Given the description of an element on the screen output the (x, y) to click on. 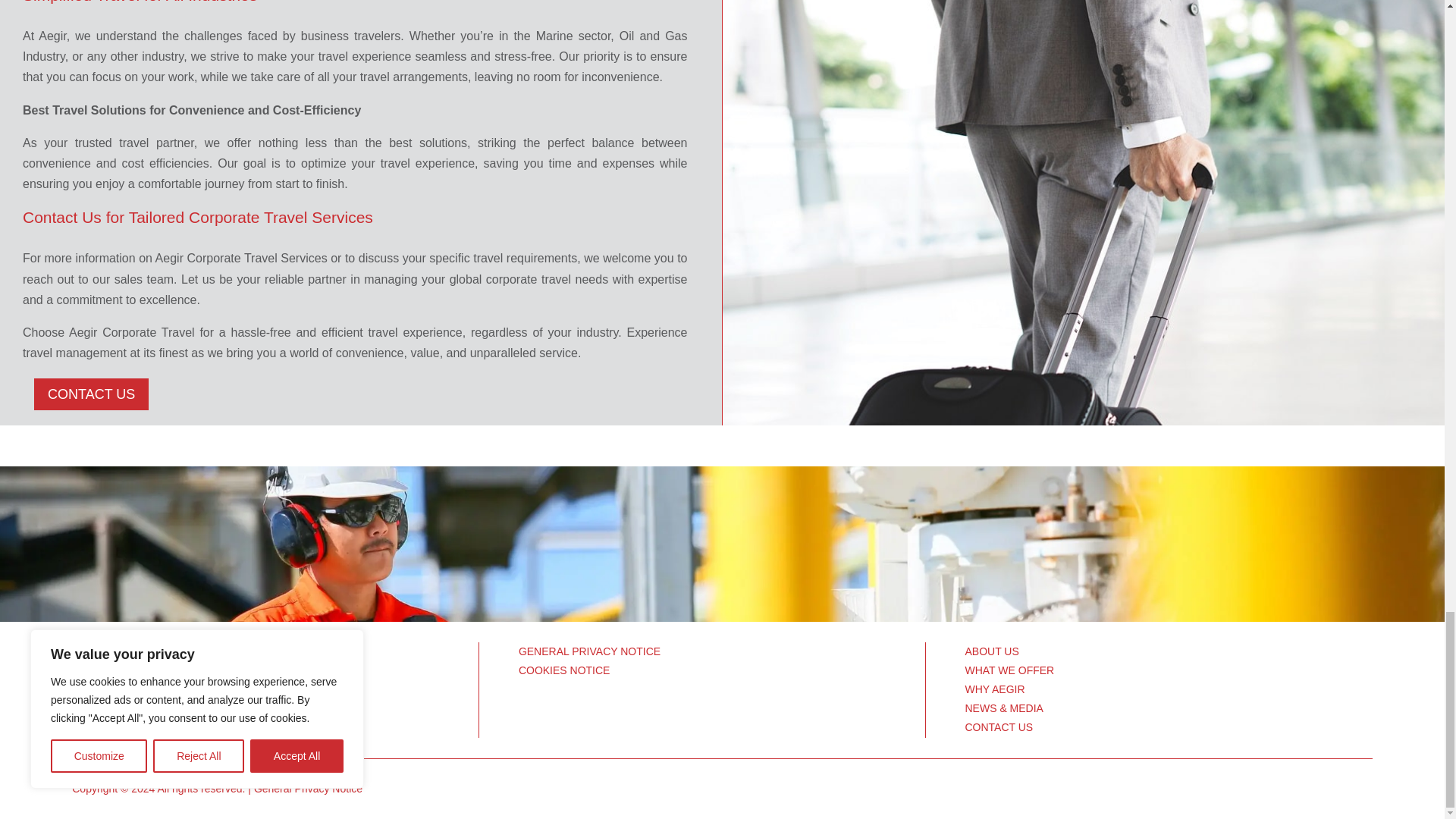
about us (275, 681)
WHAT WE OFFER (1008, 670)
WHY AEGIR (994, 689)
CONTACT US (997, 727)
ABOUT US (990, 651)
General Privacy Notice (307, 788)
CONTACT US (90, 393)
GENERAL PRIVACY NOTICE (589, 651)
COOKIES NOTICE (564, 670)
